Given the description of an element on the screen output the (x, y) to click on. 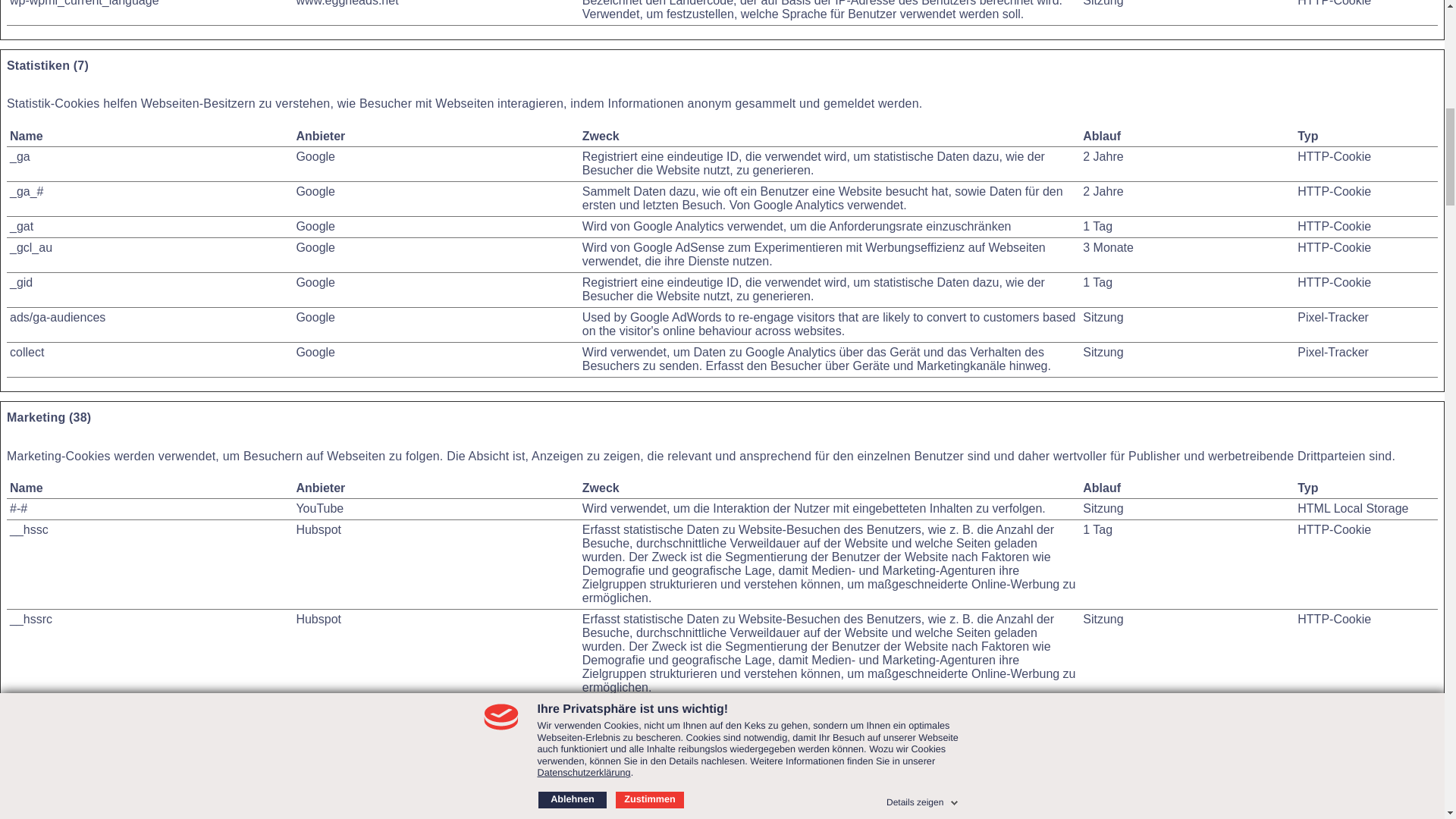
Google (314, 282)
die Datenschutzrichtlinie von Hubspot (317, 529)
Hubspot (317, 707)
Google (314, 317)
die Datenschutzrichtlinie von Hubspot (317, 618)
Google (314, 351)
die Datenschutzrichtlinie von Google (314, 246)
Google (314, 191)
Google (314, 226)
Google (314, 246)
Hubspot (317, 797)
die Datenschutzrichtlinie von Google (314, 282)
die Datenschutzrichtlinie von Google (314, 226)
die Datenschutzrichtlinie von Google (314, 317)
die Datenschutzrichtlinie von Google (314, 155)
